Given the description of an element on the screen output the (x, y) to click on. 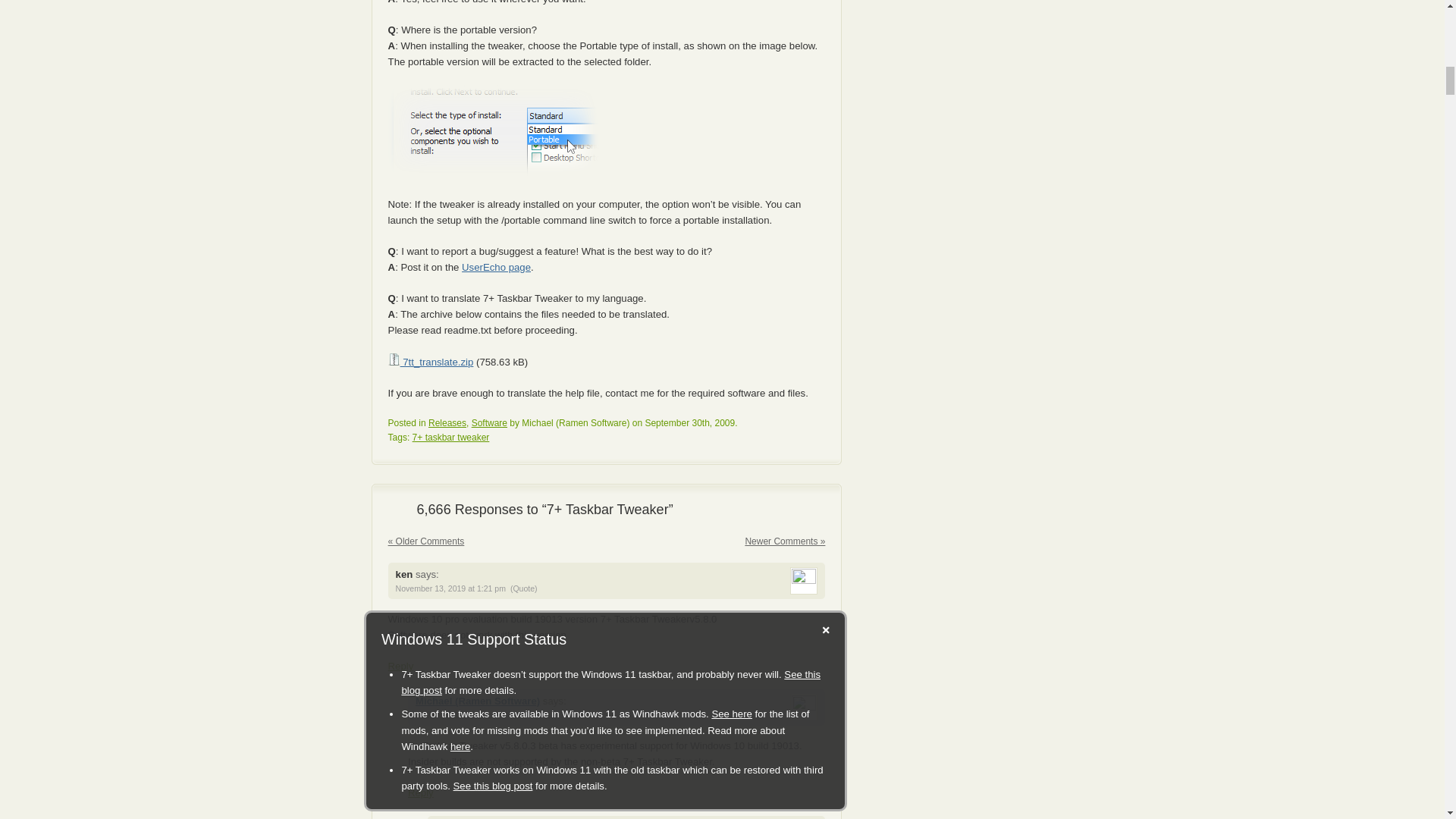
Reply (400, 665)
Software (488, 422)
UserEcho page (496, 266)
zip (394, 358)
Releases (446, 422)
Click here or select text to quote comment (543, 714)
Click here or select text to quote comment (524, 587)
November 13, 2019 at 1:21 pm (450, 587)
November 14, 2019 at 9:04 am (469, 714)
Reply (420, 792)
